Given the description of an element on the screen output the (x, y) to click on. 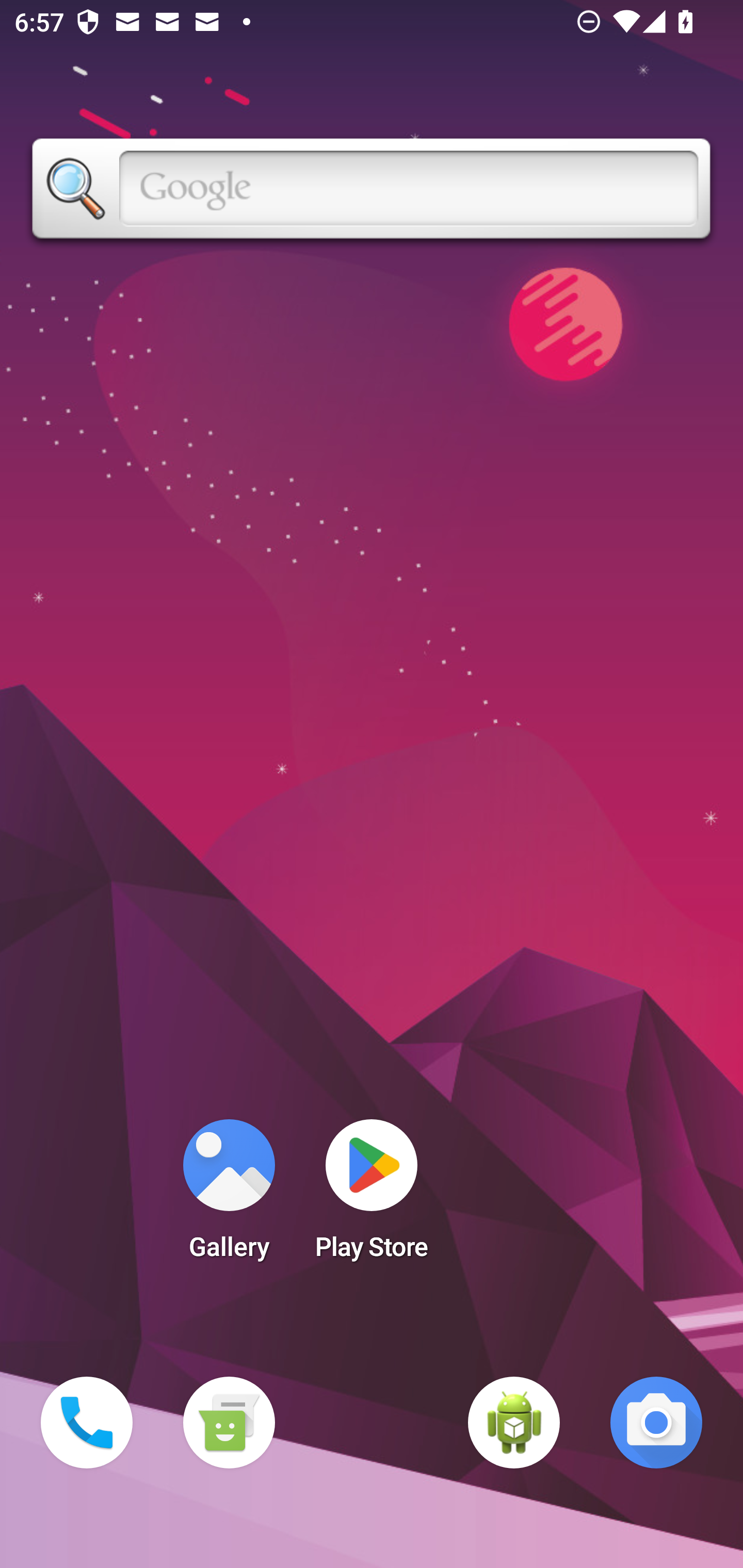
Gallery (228, 1195)
Play Store (371, 1195)
Phone (86, 1422)
Messaging (228, 1422)
WebView Browser Tester (513, 1422)
Camera (656, 1422)
